Given the description of an element on the screen output the (x, y) to click on. 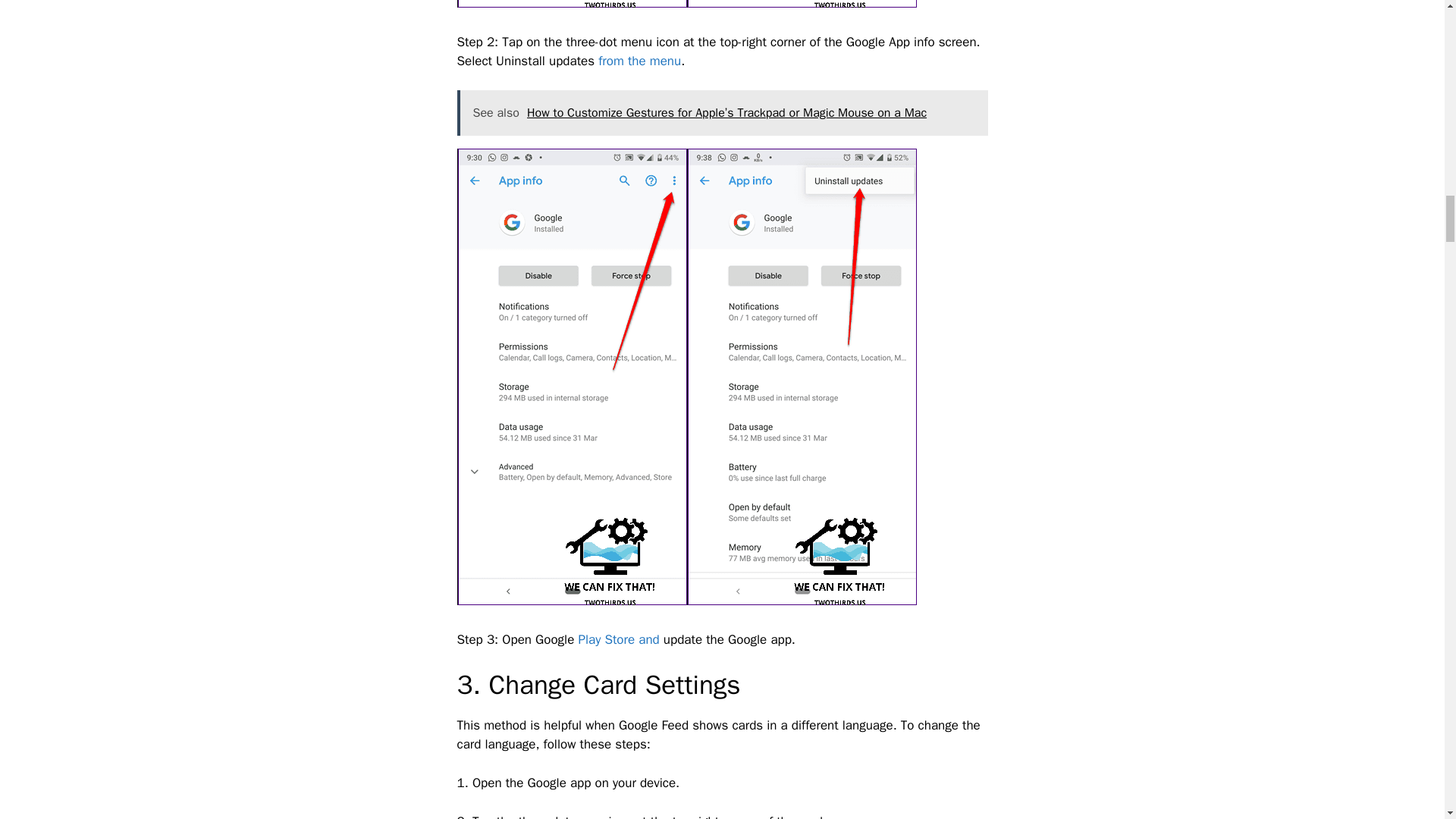
How To Change Google Feed Language in the Google App (571, 3)
How To Change Google Feed Language in the Google App (802, 3)
How To Change Google Feed Language in the Google App (571, 376)
